Given the description of an element on the screen output the (x, y) to click on. 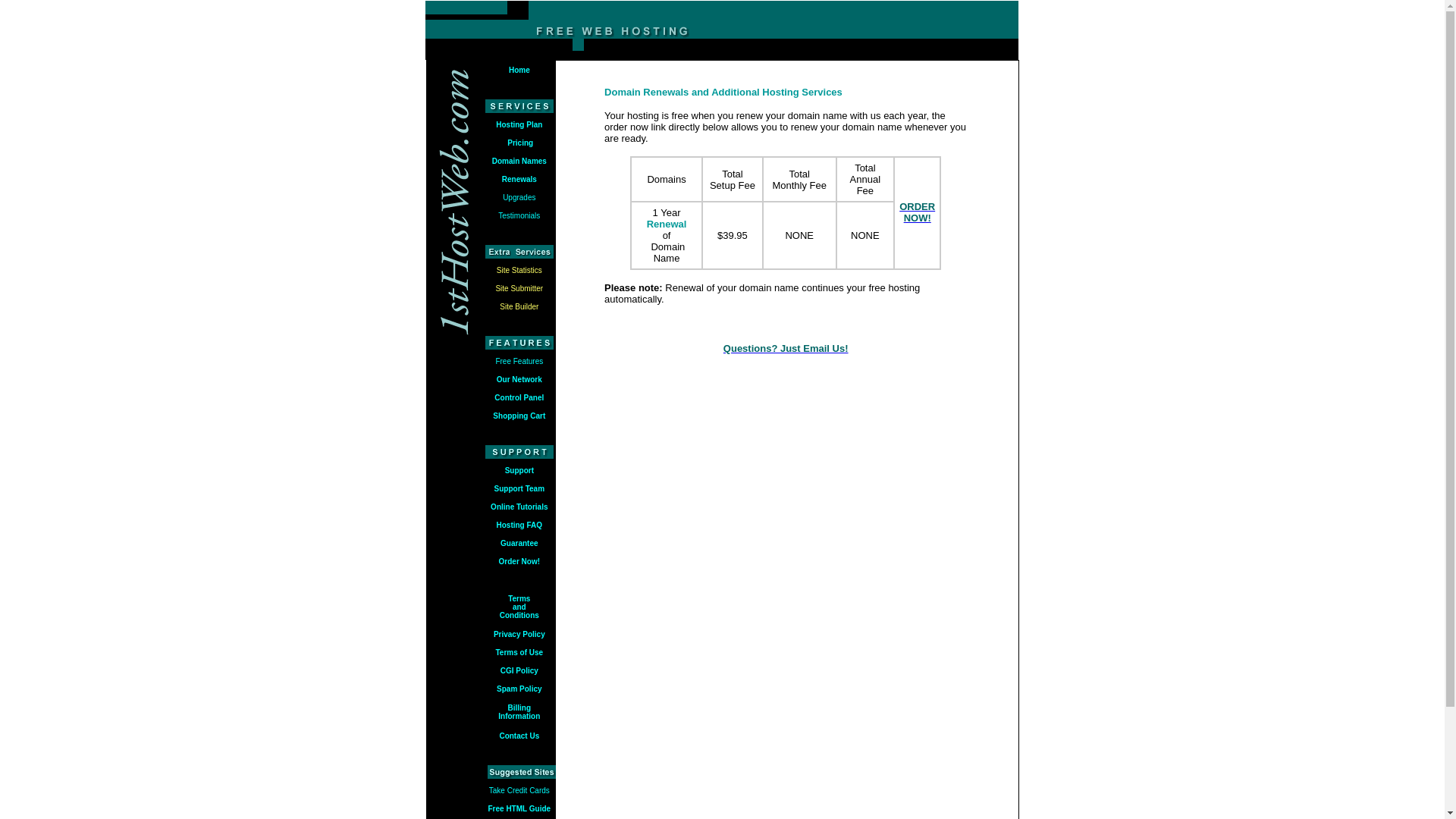
Terms of Use Element type: text (518, 651)
Privacy Policy Element type: text (519, 633)
Free HTML Guide Element type: text (519, 806)
Support Team Element type: text (519, 487)
Hosting FAQ Element type: text (519, 524)
Billing
Information Element type: text (518, 711)
CGI Policy Element type: text (519, 669)
Site Builder Element type: text (518, 305)
Renewals Element type: text (519, 177)
Free Features Element type: text (518, 360)
Upgrades Element type: text (518, 196)
Shopping Cart Element type: text (518, 415)
Questions? Just Email Us! Element type: text (785, 347)
Hosting Plan Element type: text (518, 123)
Support Element type: text (519, 468)
 Pricing Element type: text (519, 140)
Domain Names Element type: text (519, 160)
Contact Us Element type: text (518, 735)
Site Statistics Element type: text (519, 269)
Terms
and
Conditions Element type: text (519, 606)
Online Tutorials Element type: text (518, 504)
Site Submitter Element type: text (518, 287)
ORDER NOW! Element type: text (917, 211)
Take Credit Cards Element type: text (519, 789)
Control Panel Element type: text (518, 396)
Spam Policy Element type: text (518, 688)
Order Now! Element type: text (518, 560)
Our Network Element type: text (519, 378)
Home Element type: text (519, 69)
Testimonials Element type: text (518, 214)
Guarantee Element type: text (518, 542)
